Given the description of an element on the screen output the (x, y) to click on. 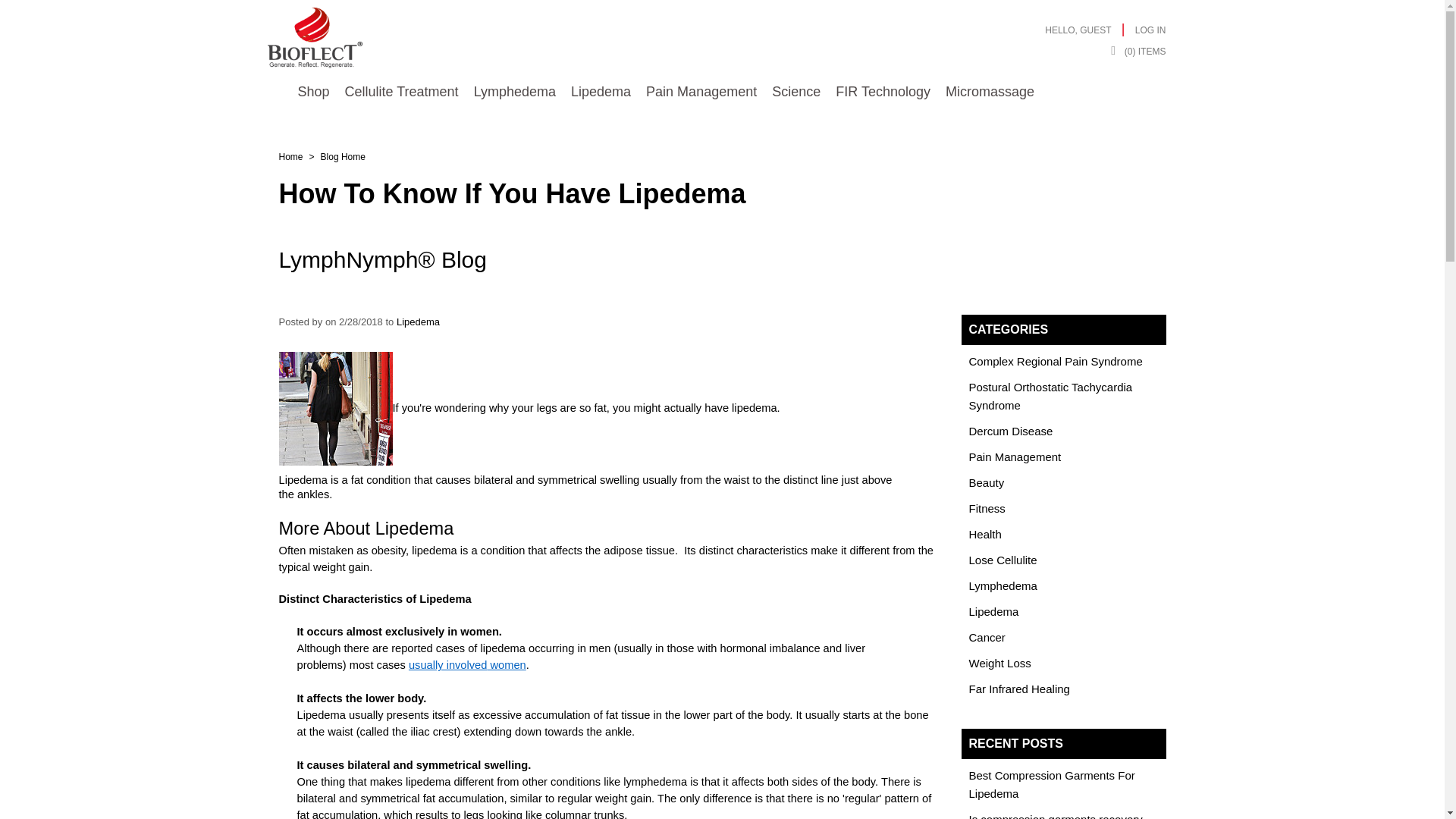
Complex Regional Pain Syndrome (1055, 360)
Lose Cellulite (1002, 559)
Cancer (987, 636)
Fitness (987, 508)
Postural Orthostatic Tachycardia Syndrome (1050, 395)
Shop (312, 91)
Health (985, 533)
Science (796, 91)
Lymphedema (1002, 585)
Blog Home (342, 156)
Pain Management (1015, 456)
Cellulite Treatment (401, 91)
Beauty (986, 481)
Home (290, 156)
Pain Management (701, 91)
